Given the description of an element on the screen output the (x, y) to click on. 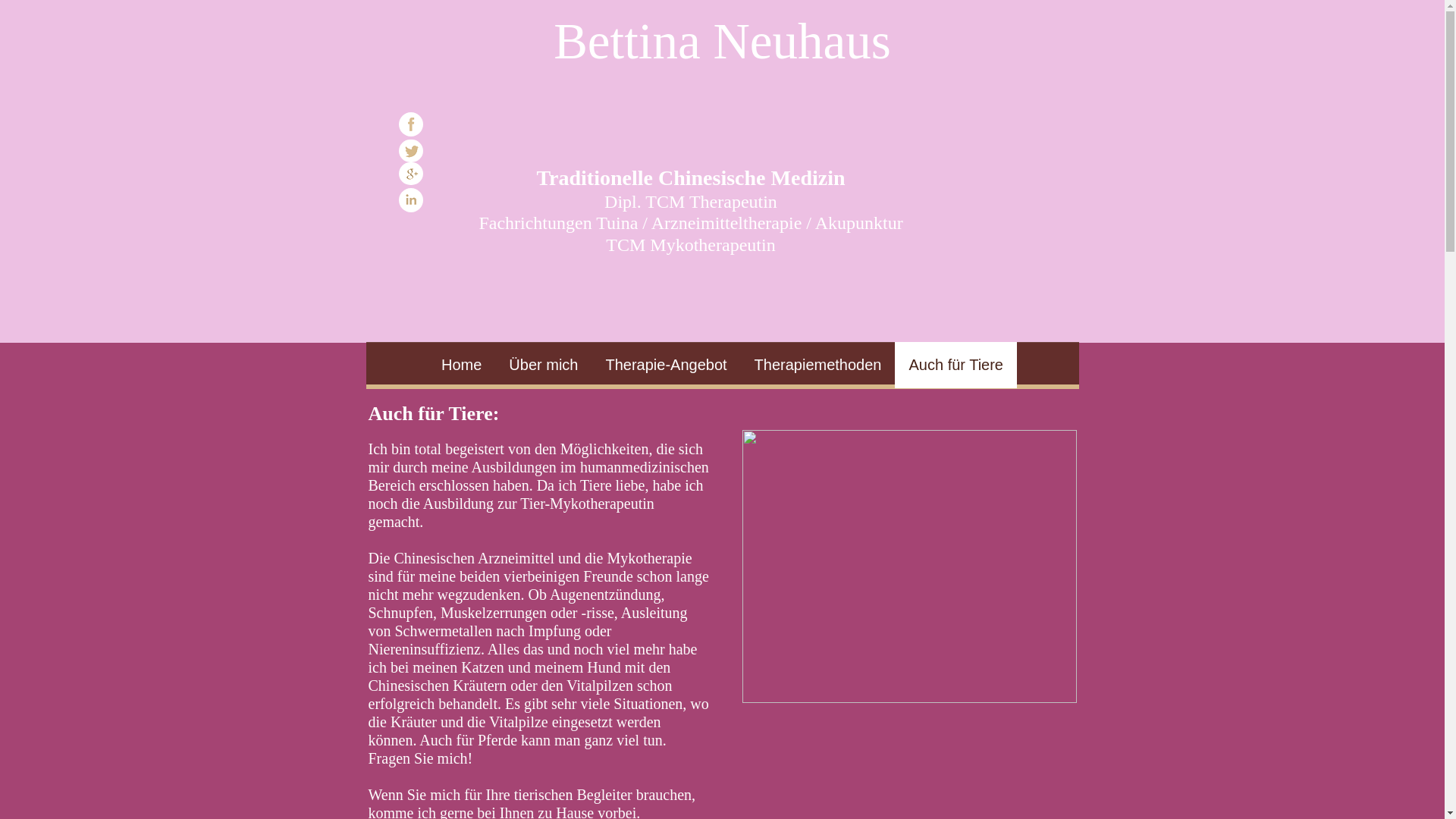
Therapiemethoden Element type: text (817, 365)
Therapie-Angebot Element type: text (665, 365)
Home Element type: text (461, 365)
